Given the description of an element on the screen output the (x, y) to click on. 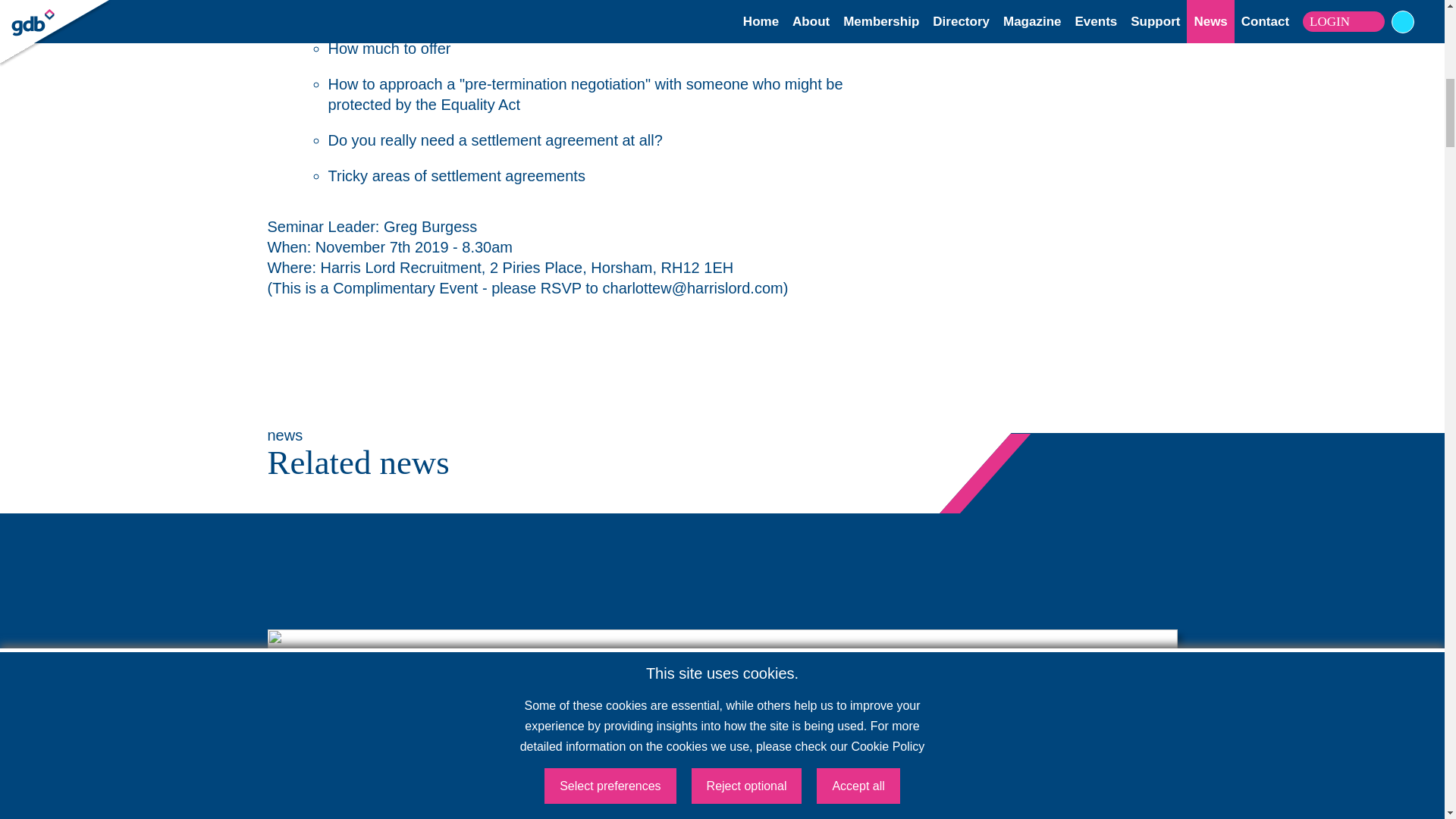
Mezzanines and Repurposing Space (721, 807)
